Given the description of an element on the screen output the (x, y) to click on. 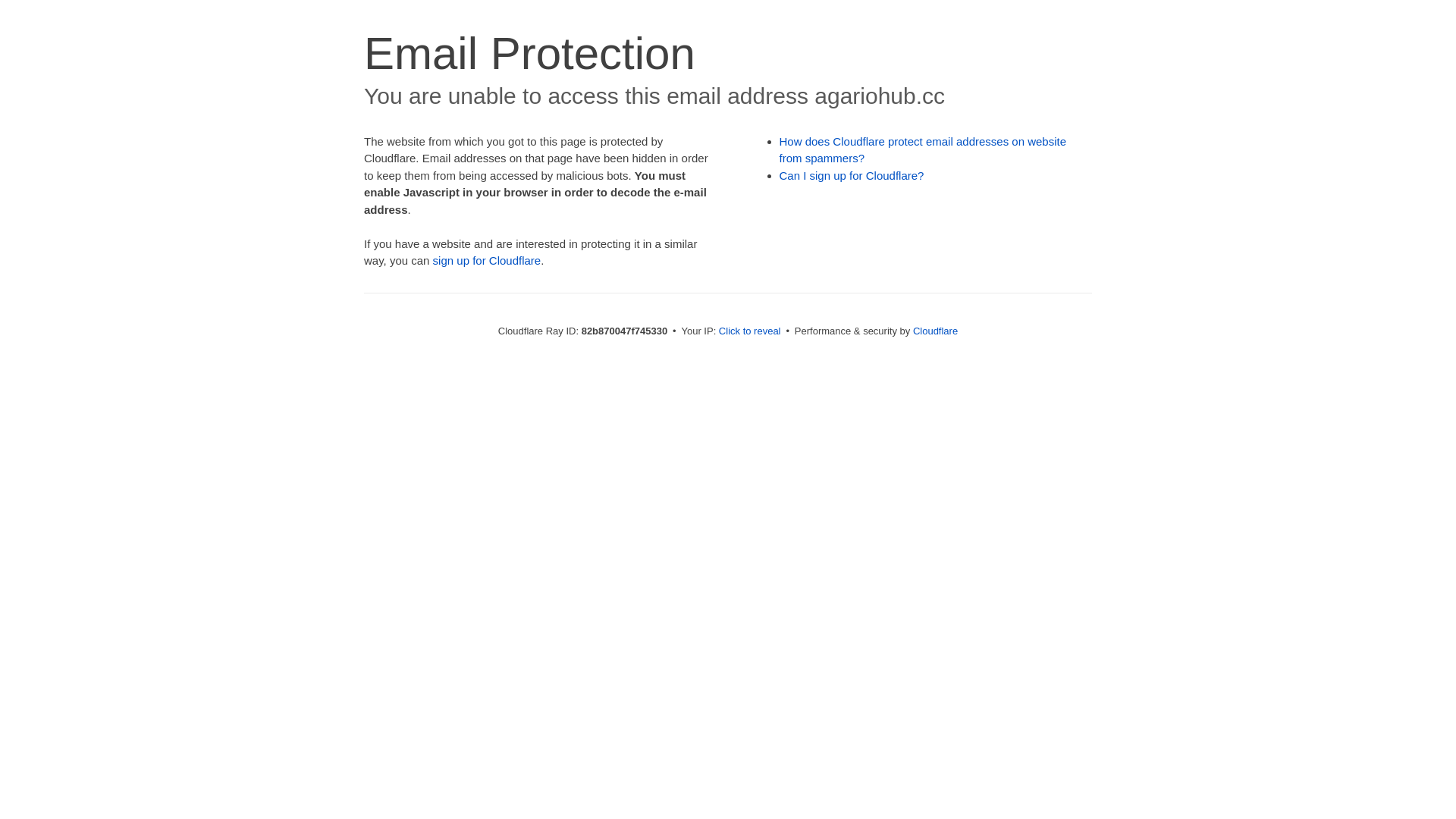
sign up for Cloudflare Element type: text (487, 260)
Click to reveal Element type: text (749, 330)
Cloudflare Element type: text (935, 330)
Can I sign up for Cloudflare? Element type: text (851, 175)
